Given the description of an element on the screen output the (x, y) to click on. 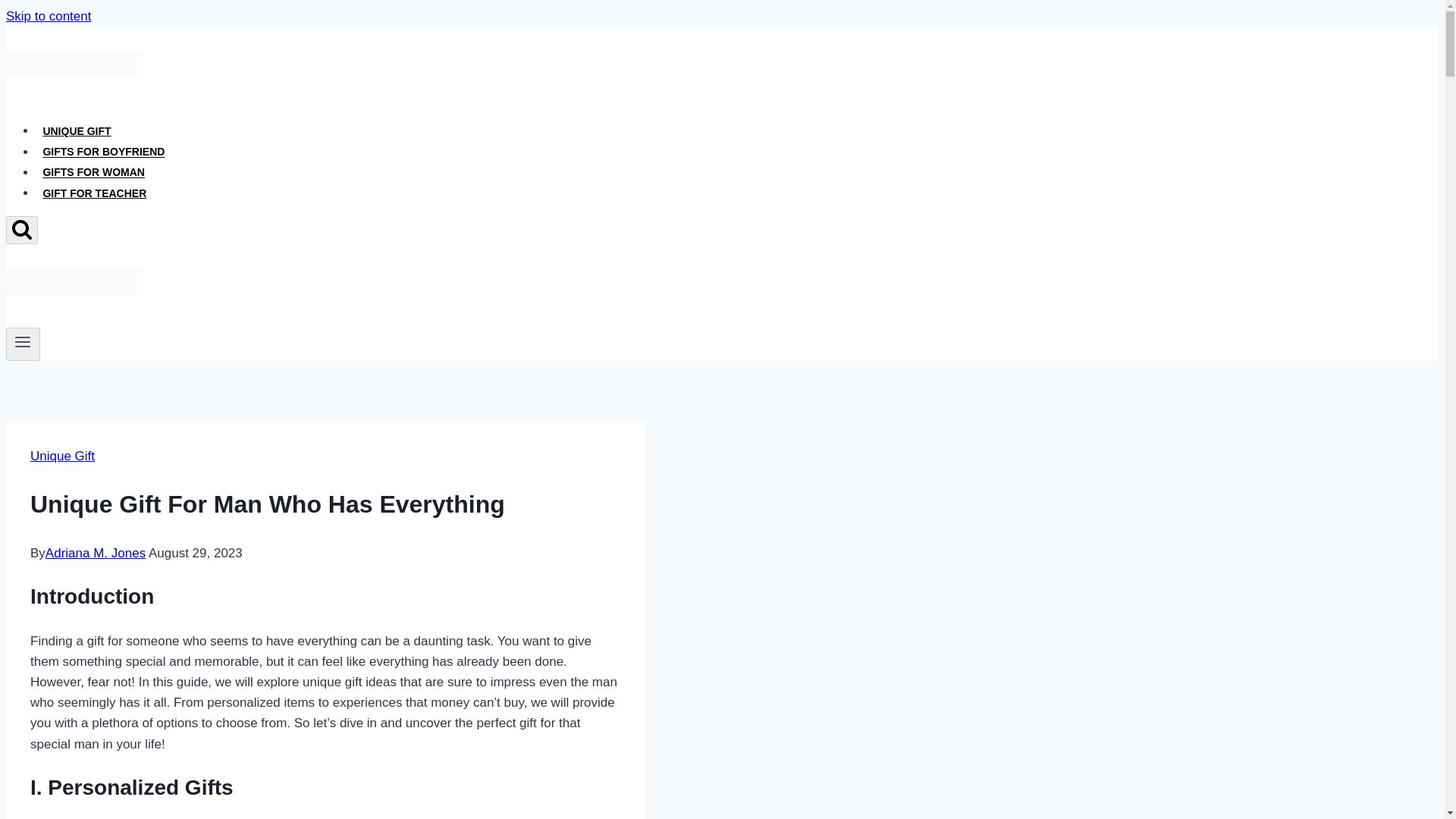
Search (21, 230)
Adriana M. Jones (95, 553)
Toggle Menu (22, 344)
Unique Gift (62, 455)
Skip to content (47, 16)
Search (21, 228)
UNIQUE GIFT (76, 131)
Toggle Menu (22, 341)
GIFTS FOR BOYFRIEND (103, 151)
Skip to content (47, 16)
